Given the description of an element on the screen output the (x, y) to click on. 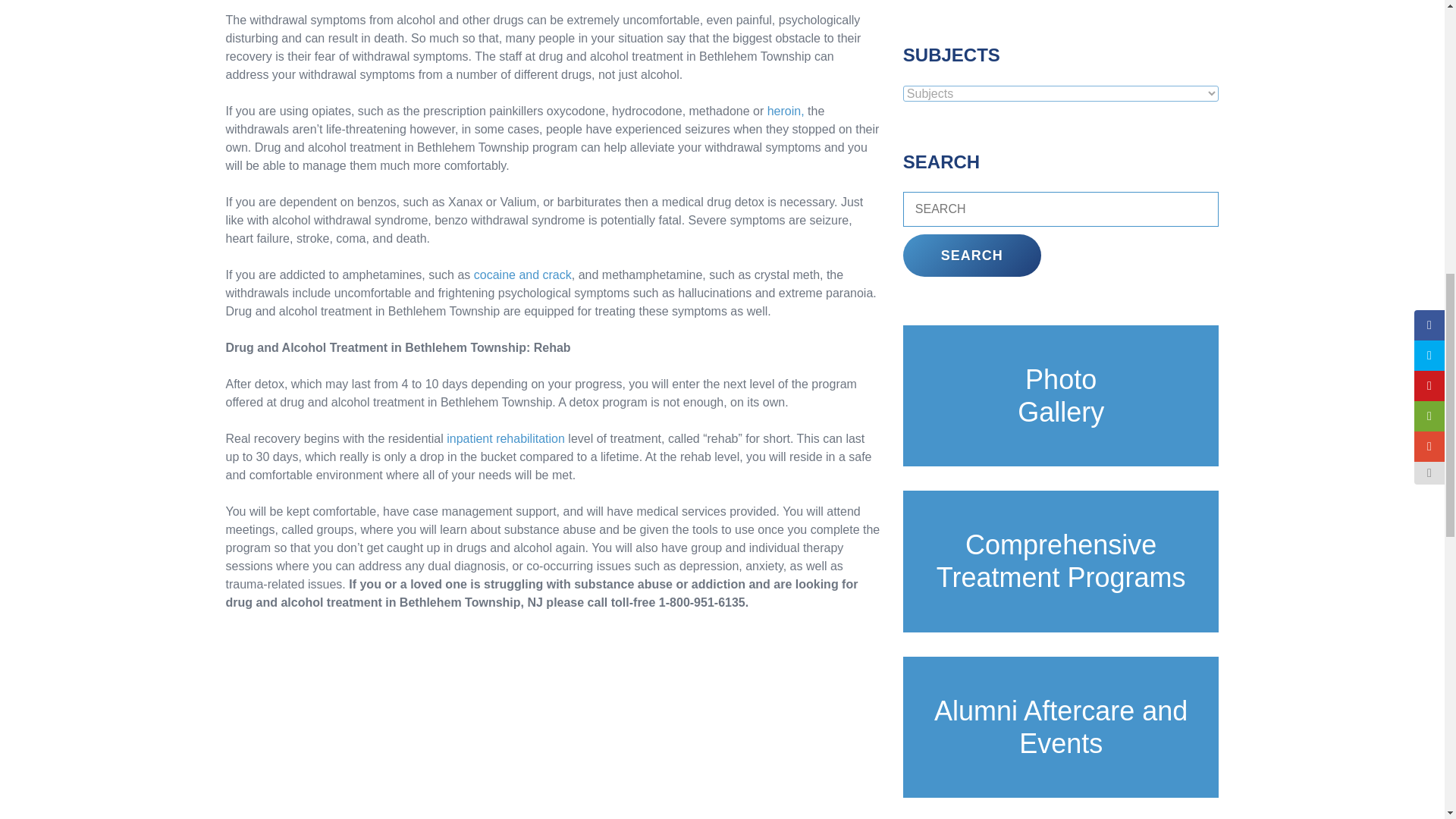
What is Rehab Like? (505, 438)
In the News: NJ Heroin Epidemic Worsens (786, 110)
Search (971, 255)
Substance Showdown: Powder Cocaine vs. Crack (523, 274)
